Given the description of an element on the screen output the (x, y) to click on. 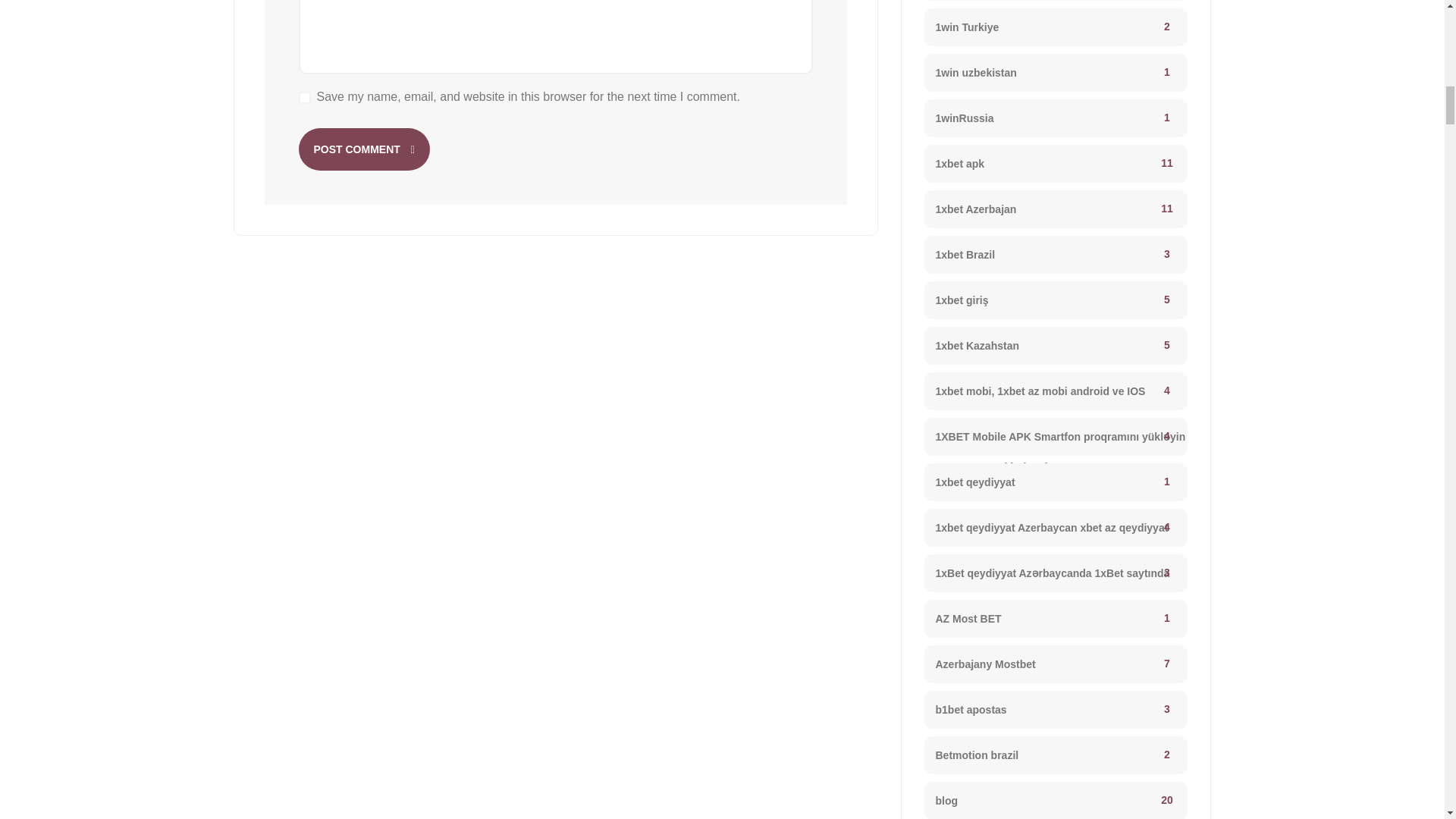
yes (304, 97)
